Given the description of an element on the screen output the (x, y) to click on. 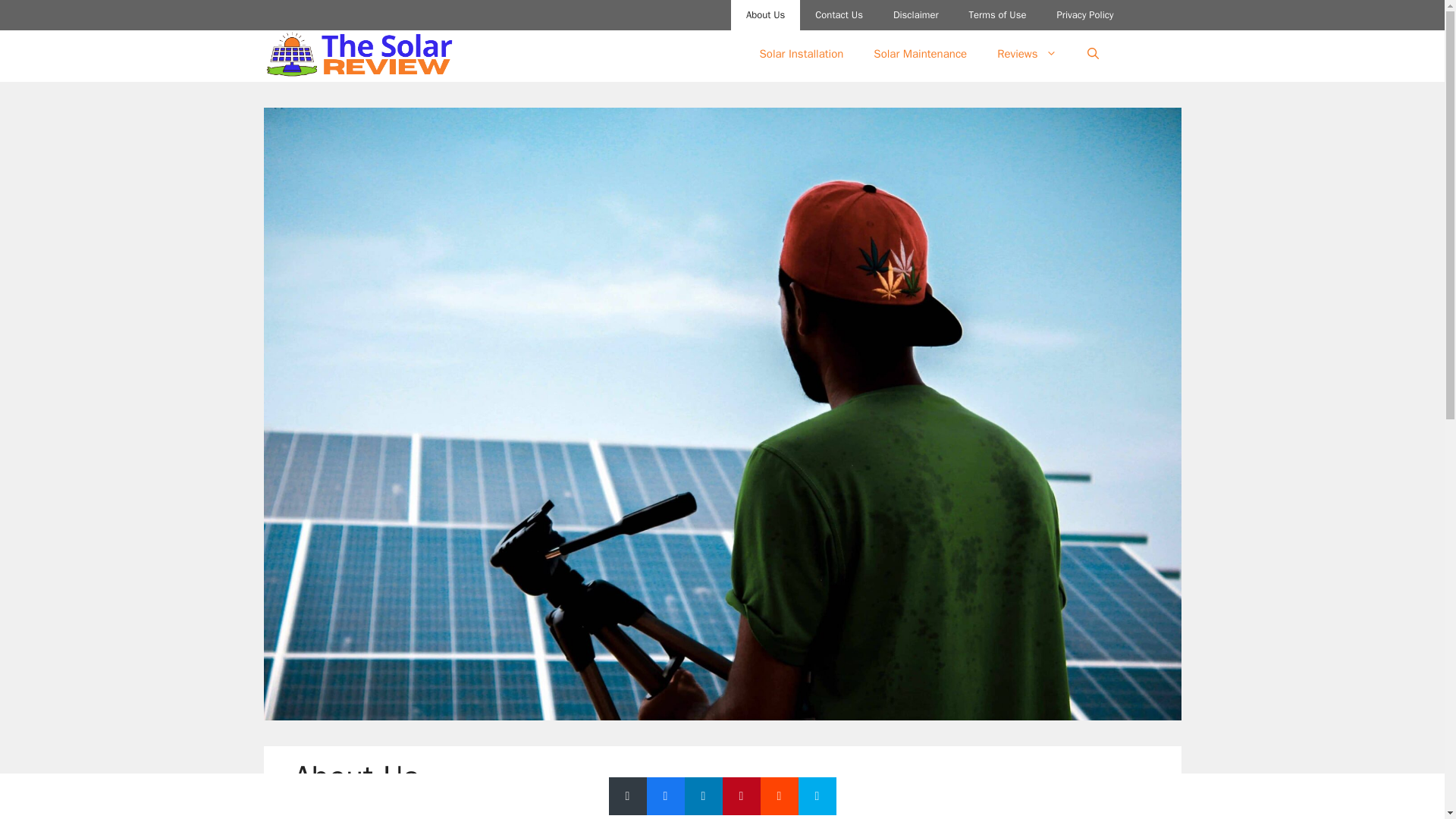
Reviews (1026, 53)
Disclaimer (915, 15)
Terms of Use (997, 15)
Privacy Policy (1084, 15)
Solar Installation (801, 53)
About Us (764, 15)
Solar Maintenance (920, 53)
Contact Us (838, 15)
